Given the description of an element on the screen output the (x, y) to click on. 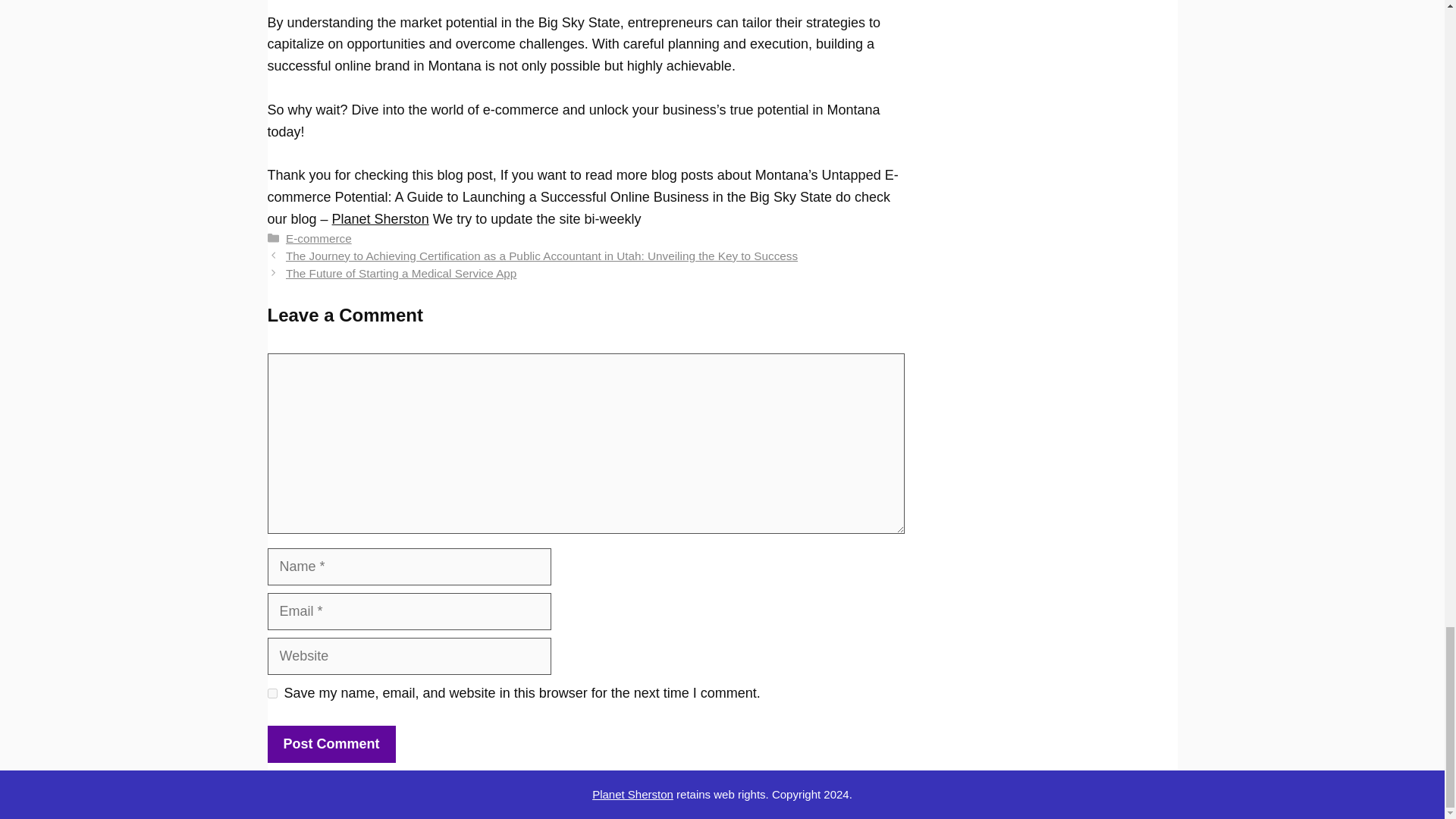
yes (271, 693)
Post Comment (330, 743)
Planet Sherston (380, 218)
The Future of Starting a Medical Service App (400, 273)
Post Comment (330, 743)
E-commerce (318, 237)
Planet Sherston (632, 793)
